Given the description of an element on the screen output the (x, y) to click on. 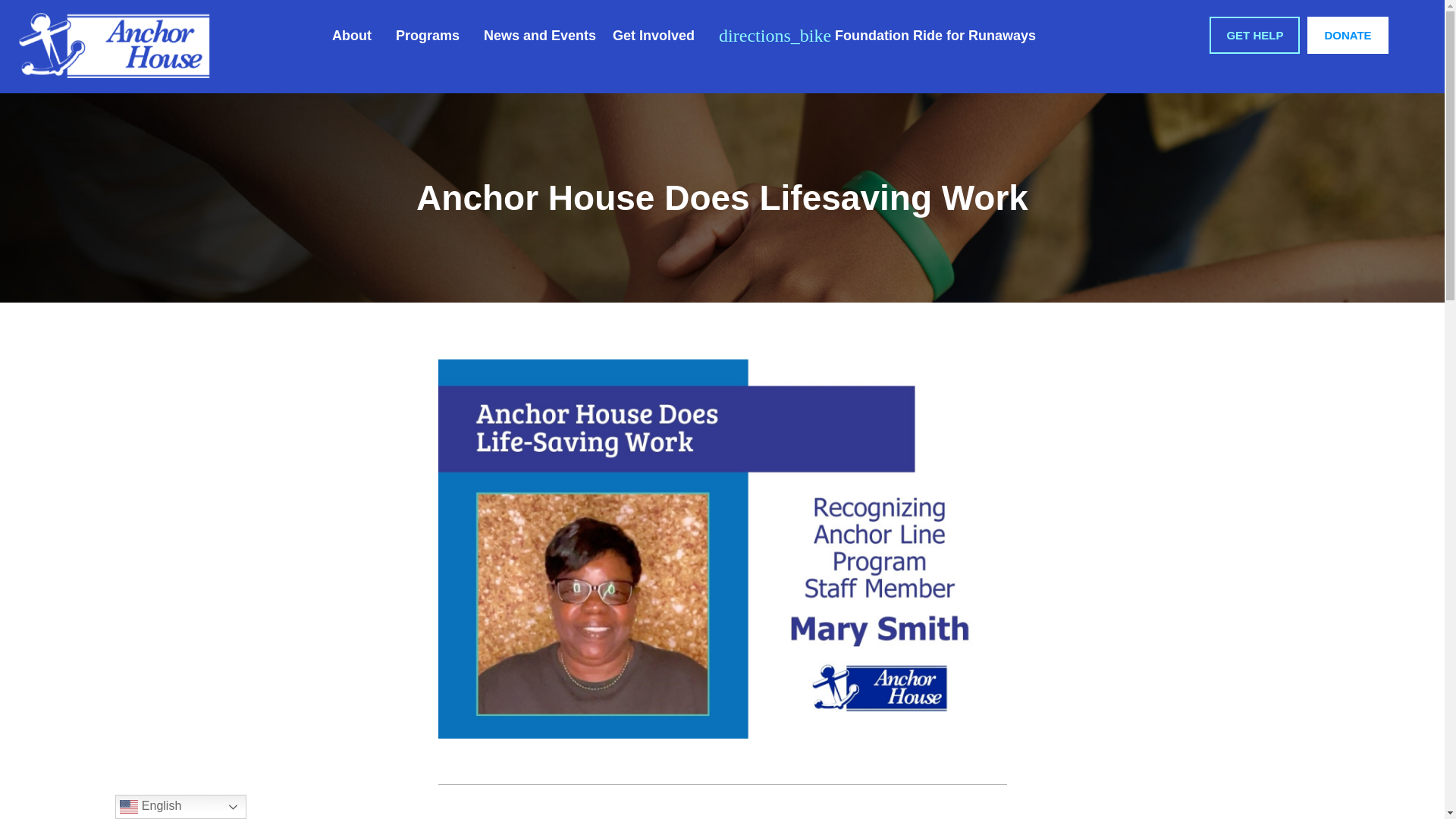
About (355, 35)
